Given the description of an element on the screen output the (x, y) to click on. 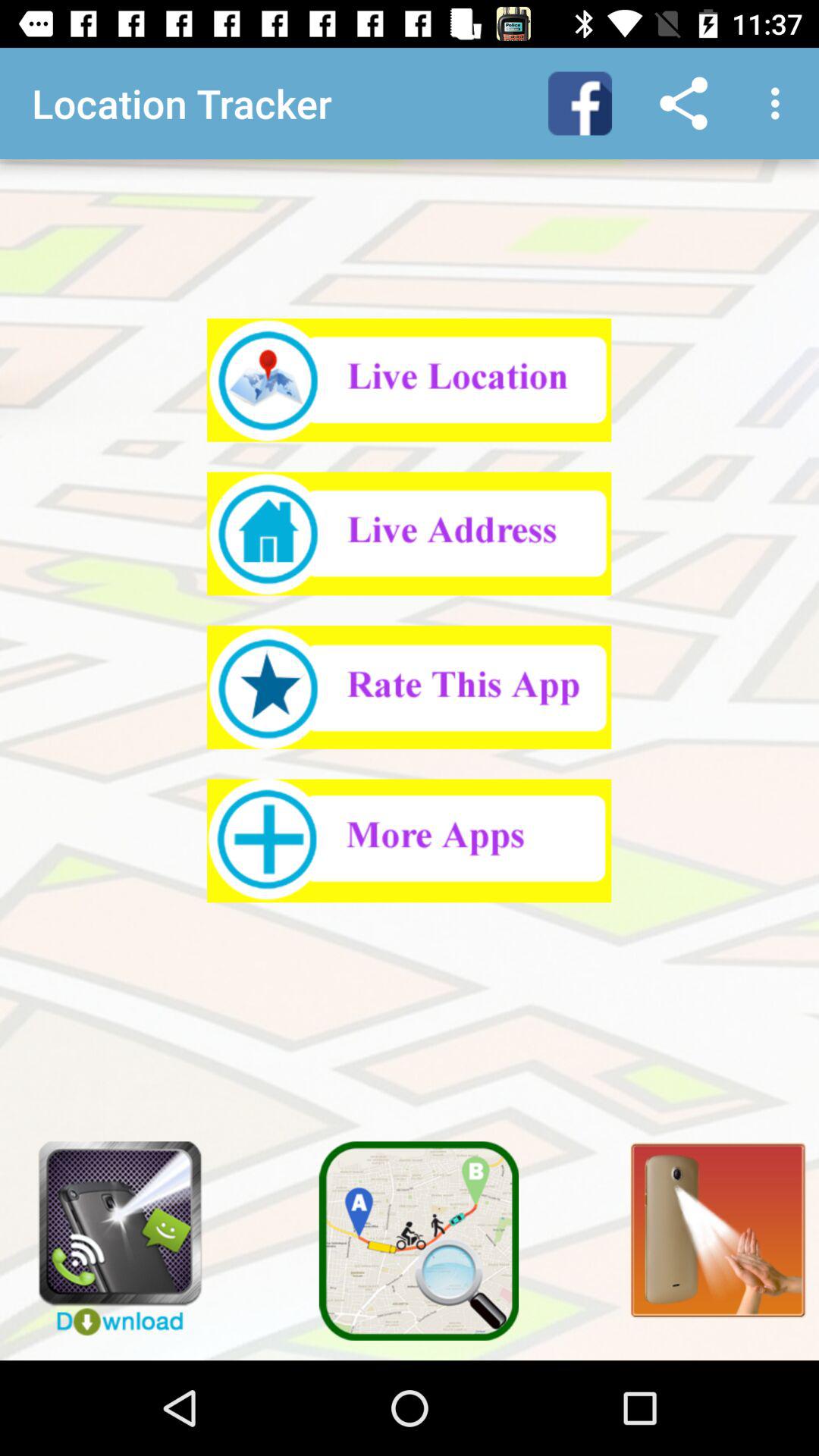
see more apps (409, 840)
